Given the description of an element on the screen output the (x, y) to click on. 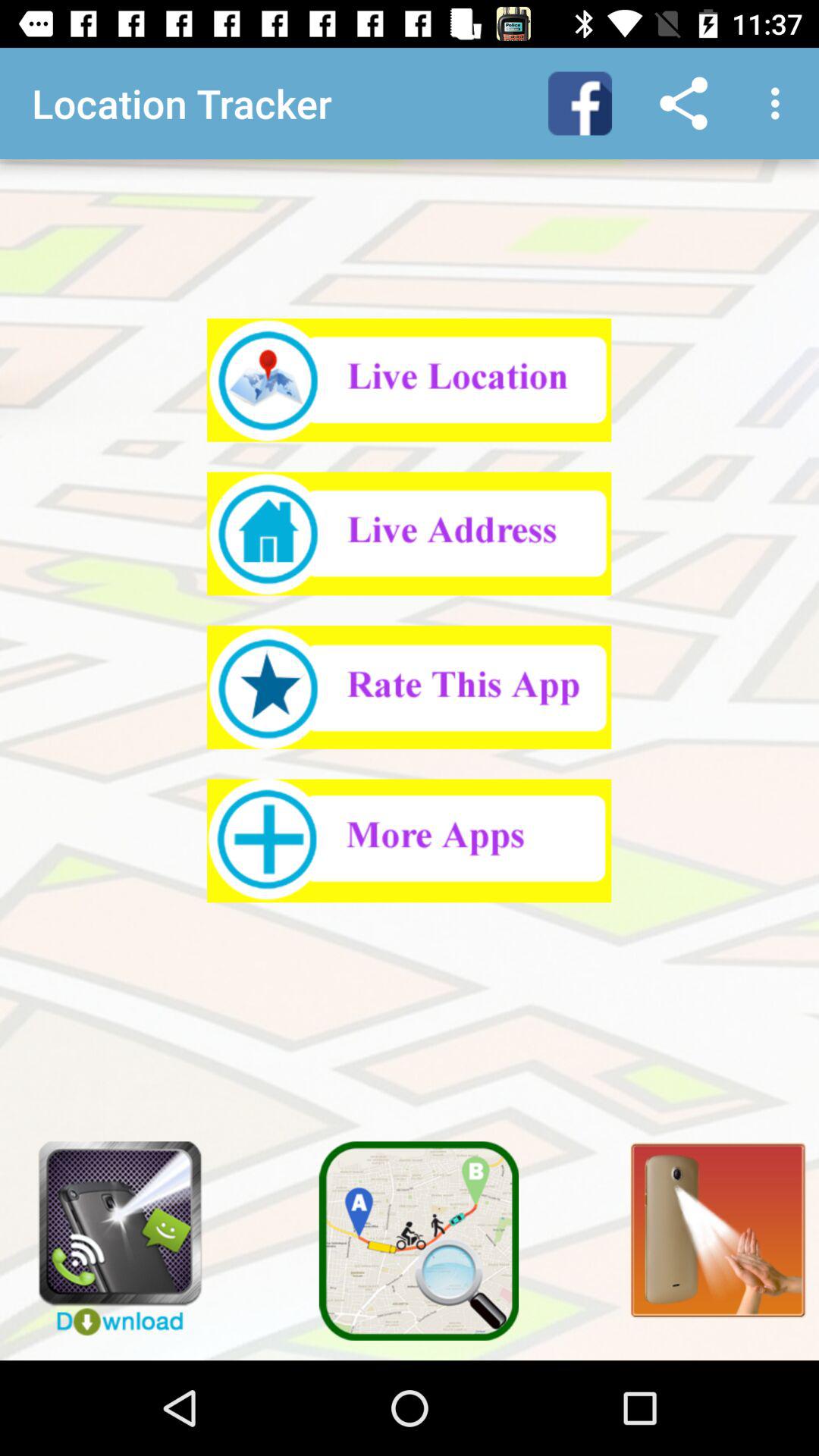
see more apps (409, 840)
